Given the description of an element on the screen output the (x, y) to click on. 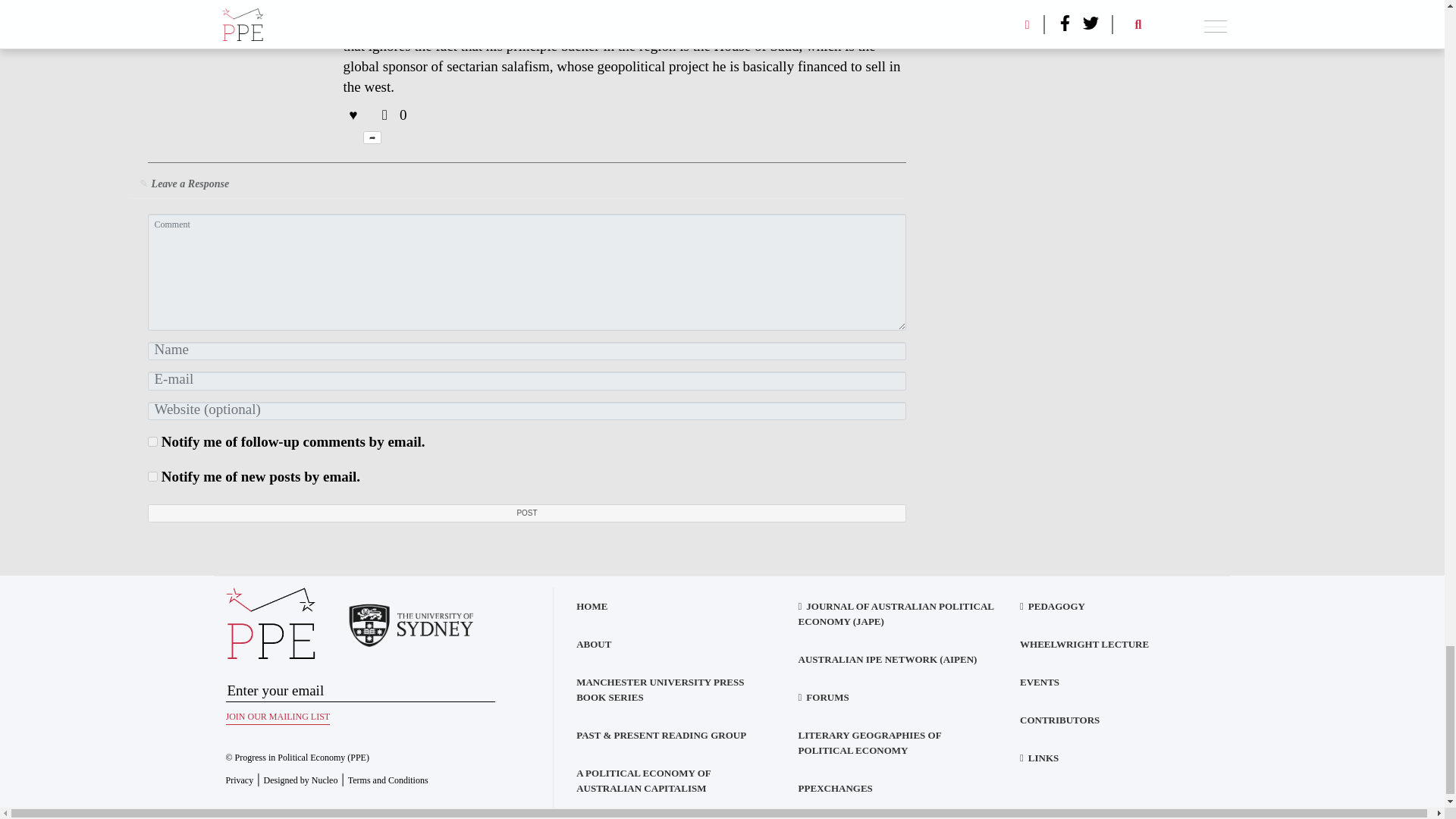
Join our mailing list (277, 712)
subscribe (152, 441)
subscribe (152, 476)
Post (526, 513)
